Given the description of an element on the screen output the (x, y) to click on. 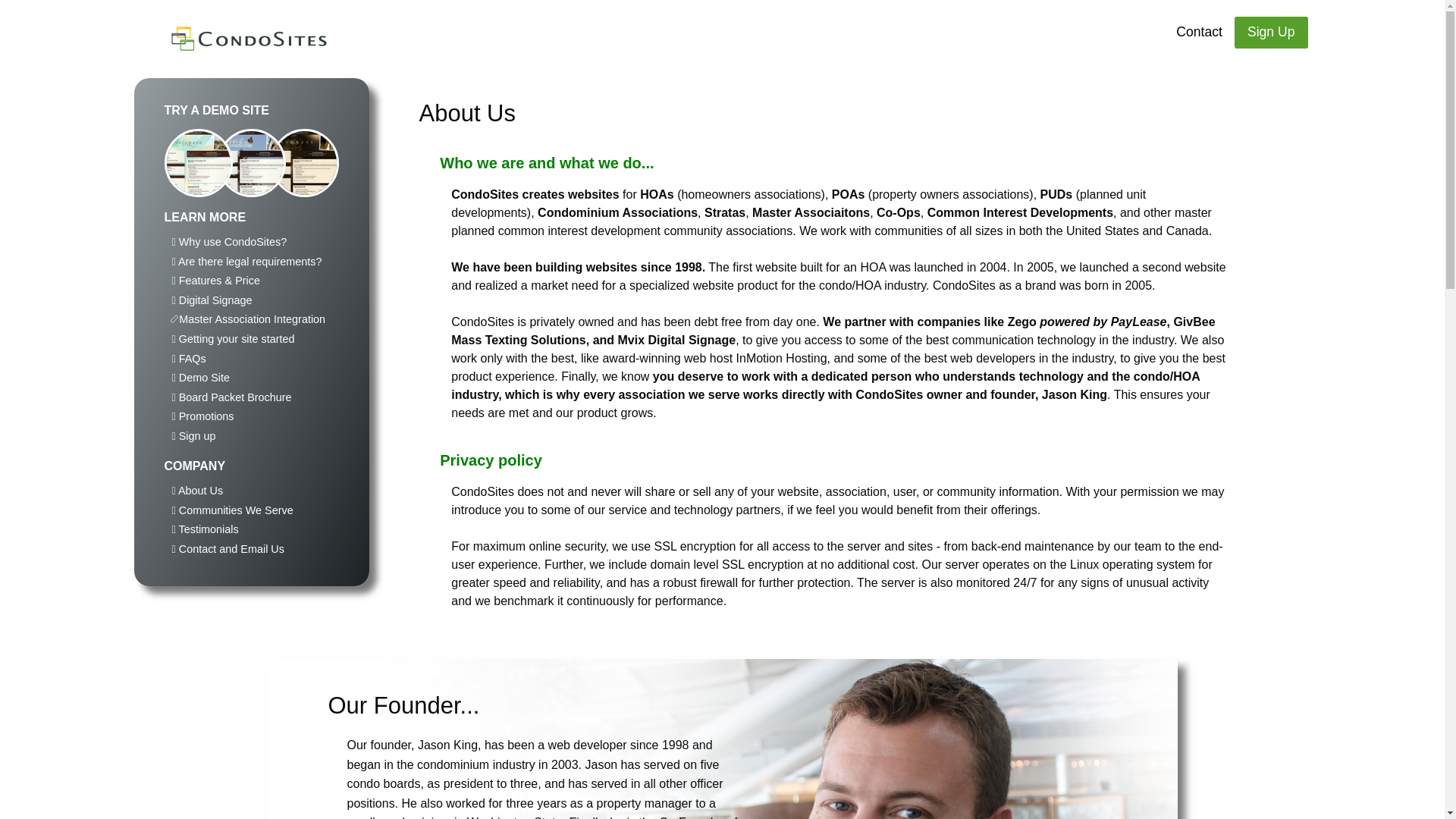
Why use CondoSites? (228, 241)
Getting your site started (232, 338)
Demo Site (199, 377)
Contact (1198, 32)
Master Association Integration (247, 318)
Communities We Serve (231, 510)
FAQs (188, 358)
About Us (196, 490)
Board Packet Brochure (231, 397)
Are there legal requirements? (246, 261)
Testimonials (204, 529)
Promotions (201, 416)
Sign Up (1270, 32)
Digital Signage (211, 300)
Sign up (193, 435)
